Given the description of an element on the screen output the (x, y) to click on. 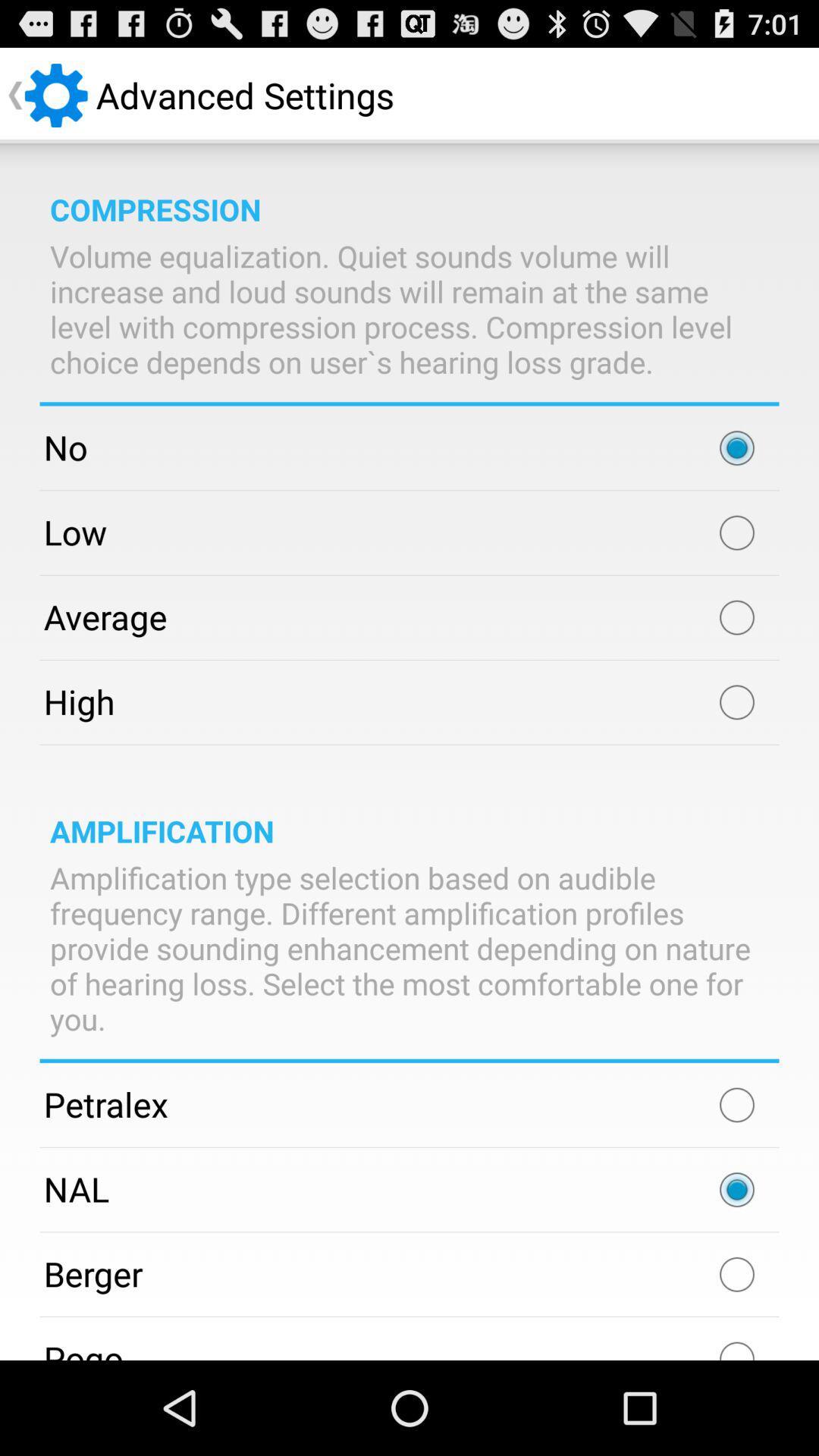
set volume equalization to low (736, 532)
